Given the description of an element on the screen output the (x, y) to click on. 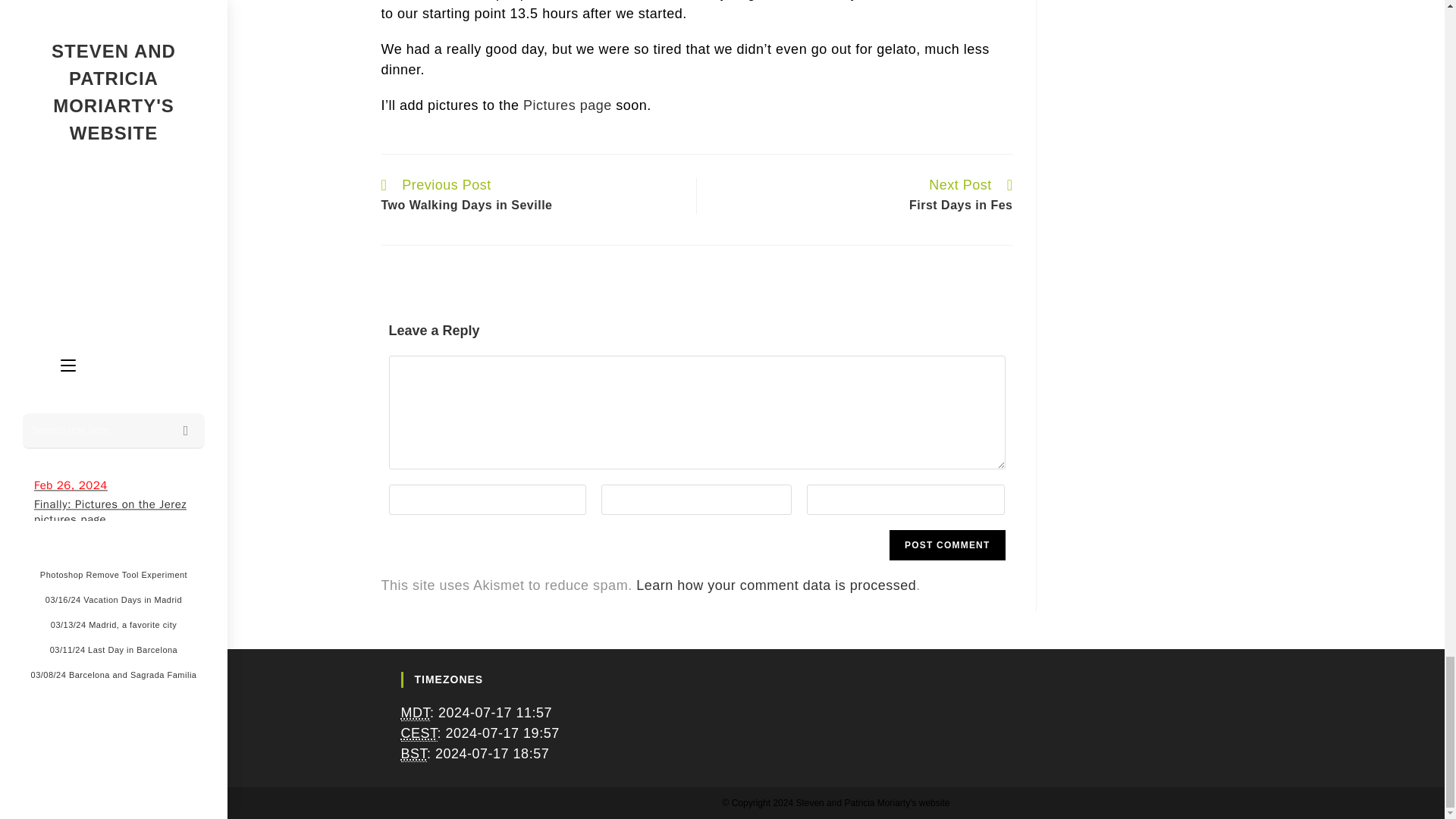
Post Comment (946, 544)
